Given the description of an element on the screen output the (x, y) to click on. 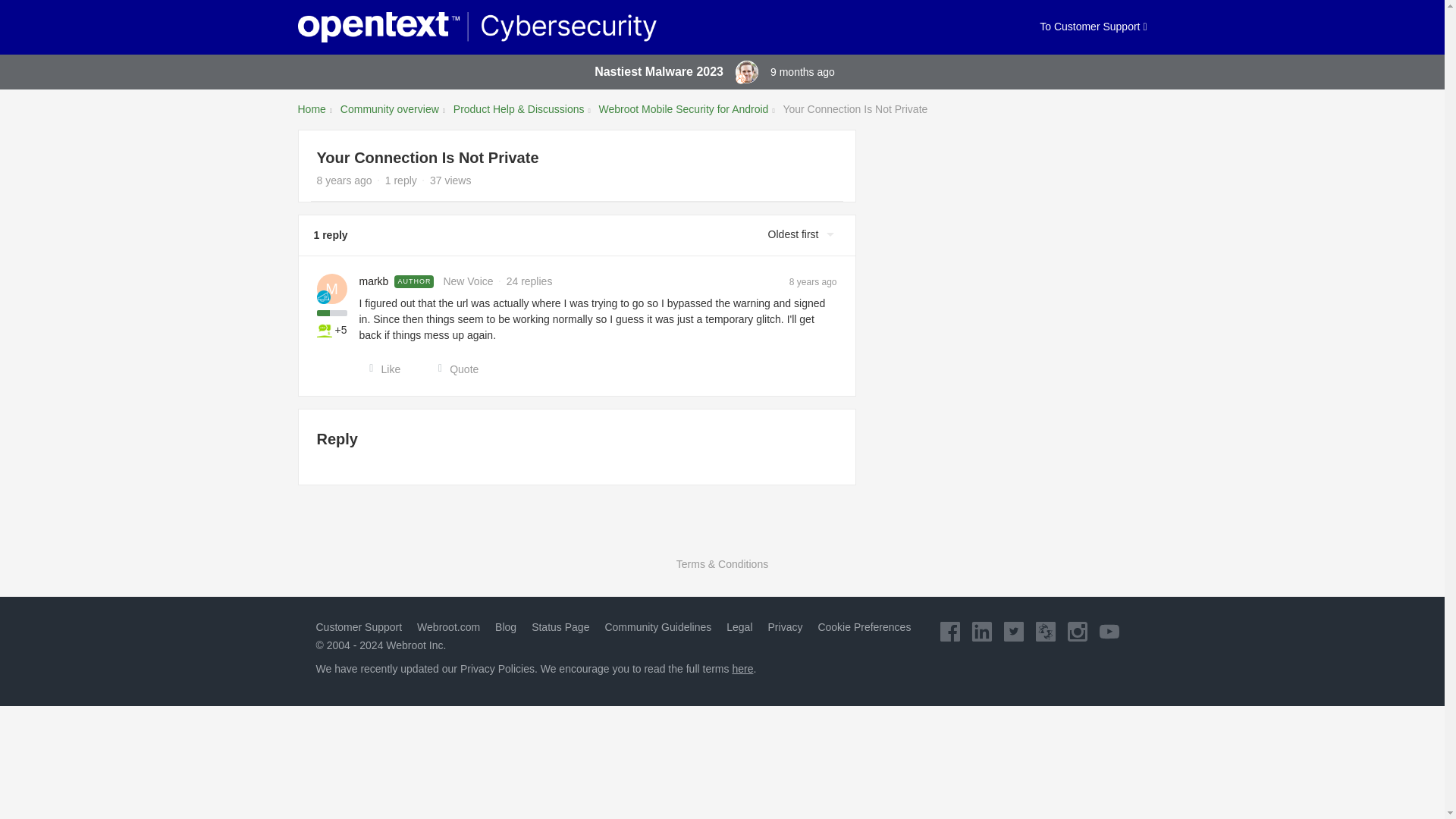
Community Guidelines (657, 626)
markb (373, 280)
Legal (739, 626)
Customer Support (358, 626)
Webroot Mobile Security for Android (683, 109)
Product Help: Posted 5 topics! (324, 328)
Home (310, 109)
Community overview (389, 109)
Webroot.com (448, 626)
Like (380, 368)
Cookie Preferences (863, 626)
To Customer Support (1093, 26)
Administrator (740, 78)
New Voice (323, 296)
8 years ago (813, 280)
